Given the description of an element on the screen output the (x, y) to click on. 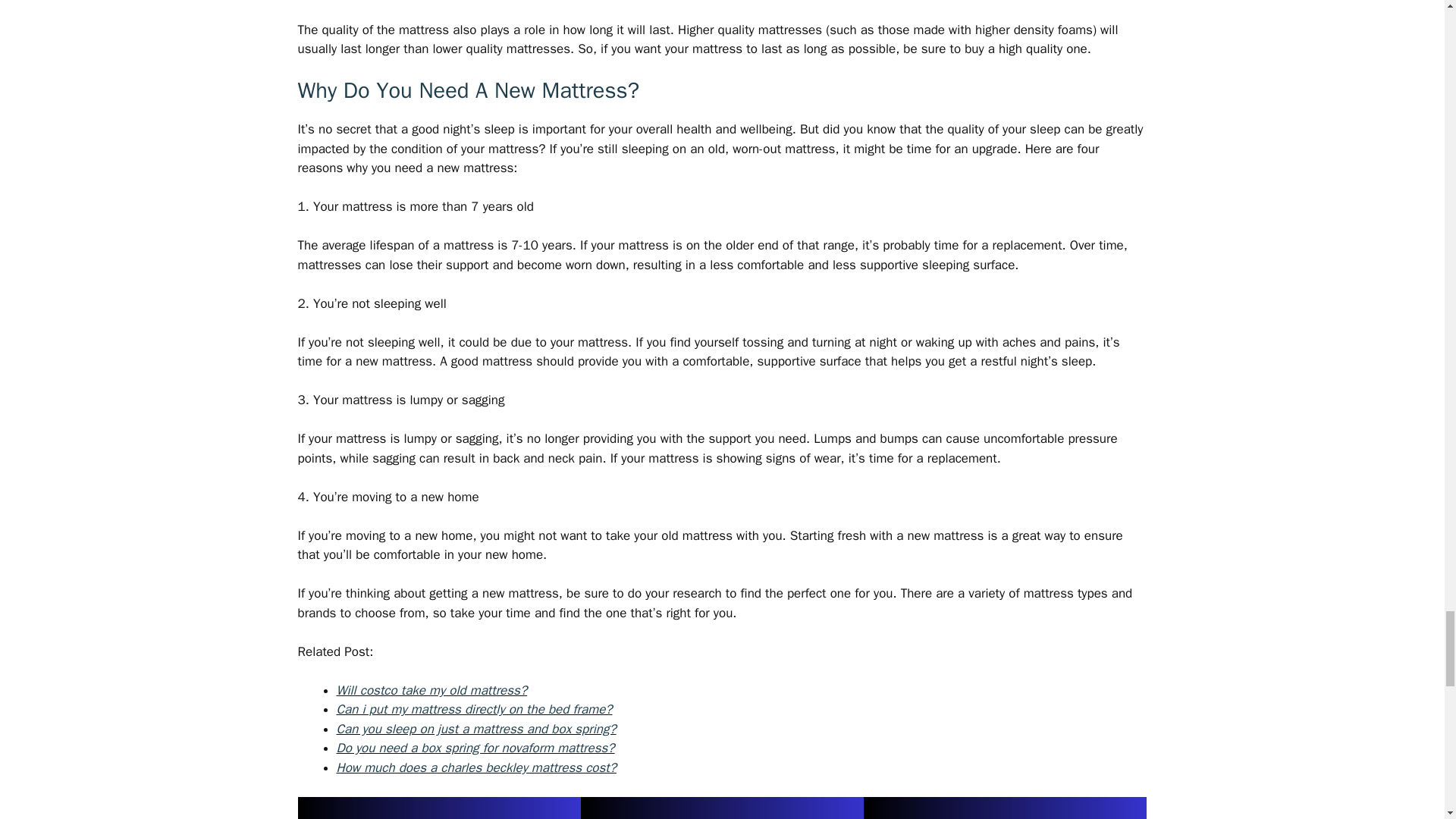
Do you need a box spring for novaform mattress? (475, 747)
Will costco take my old mattress? (431, 690)
Can you sleep on just a mattress and box spring? (475, 729)
Can i put my mattress directly on the bed frame? (474, 709)
How much does a charles beckley mattress cost? (475, 767)
